Given the description of an element on the screen output the (x, y) to click on. 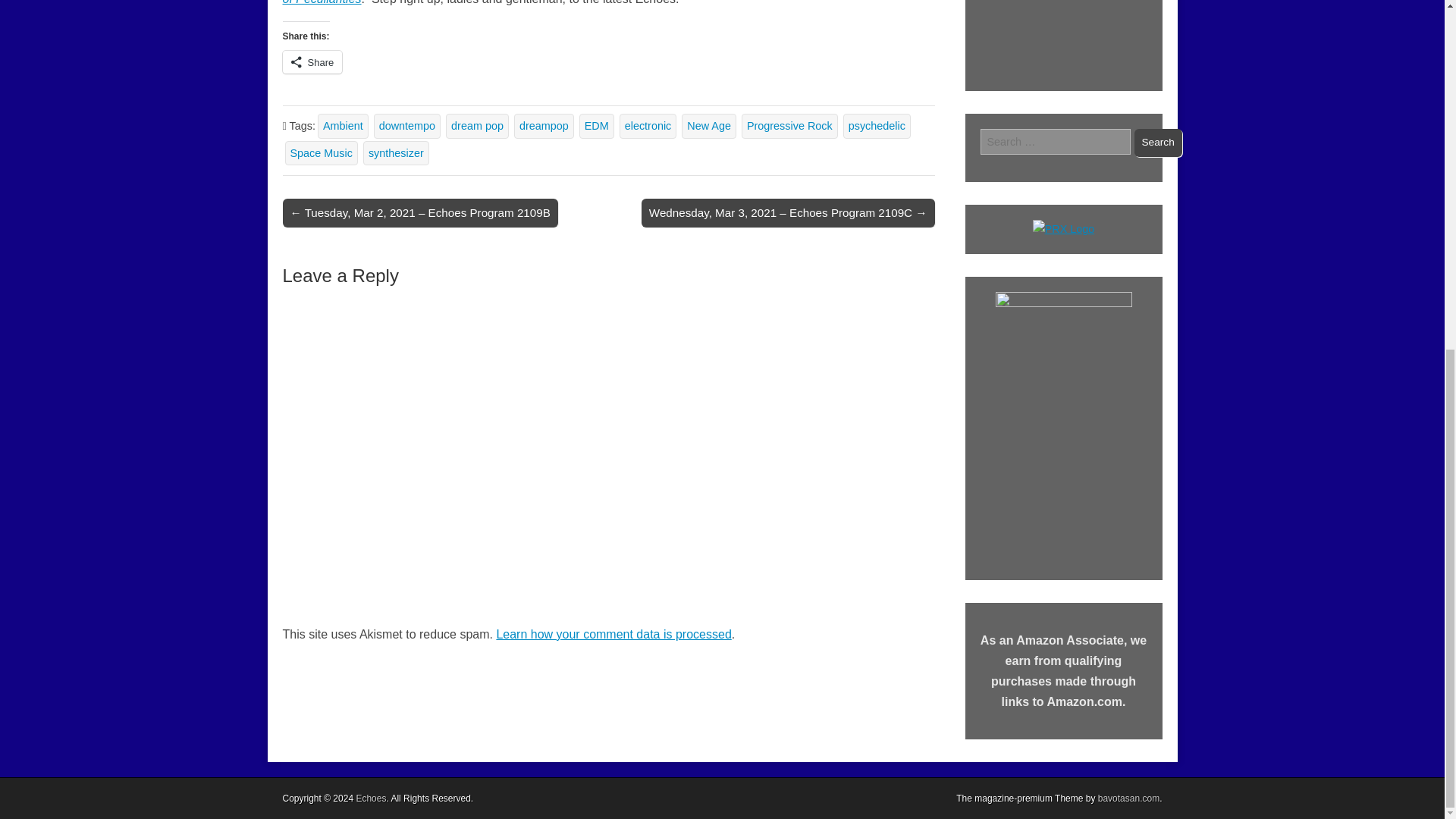
Echoes Presents (1063, 38)
Search (1158, 142)
Search (1158, 142)
